Given the description of an element on the screen output the (x, y) to click on. 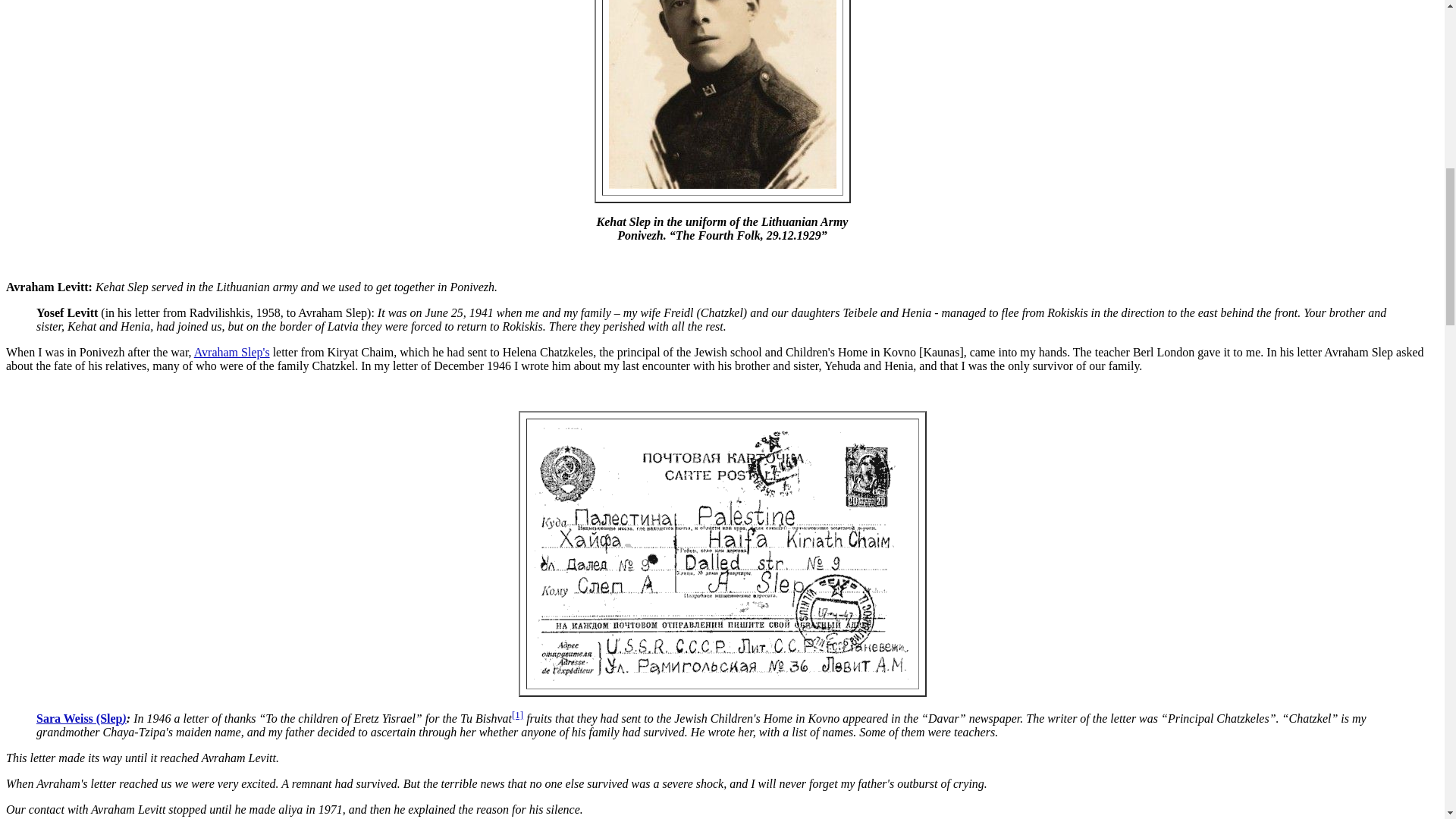
Avraham Slep's (231, 351)
